Given the description of an element on the screen output the (x, y) to click on. 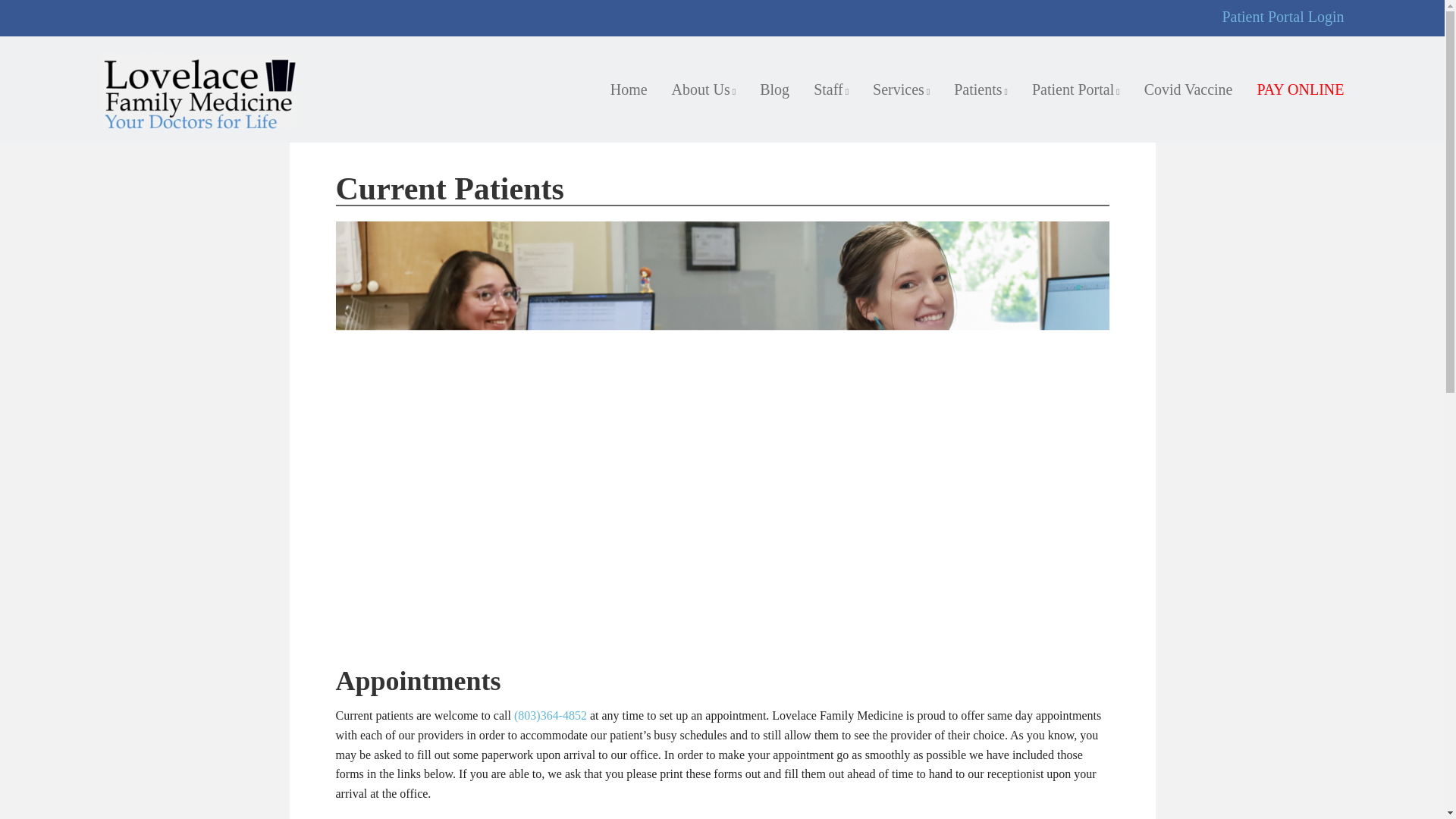
Covid Vaccine (1188, 89)
Patient Portal Login (1282, 16)
Patient Portal (1076, 89)
PAY ONLINE (1299, 89)
